Given the description of an element on the screen output the (x, y) to click on. 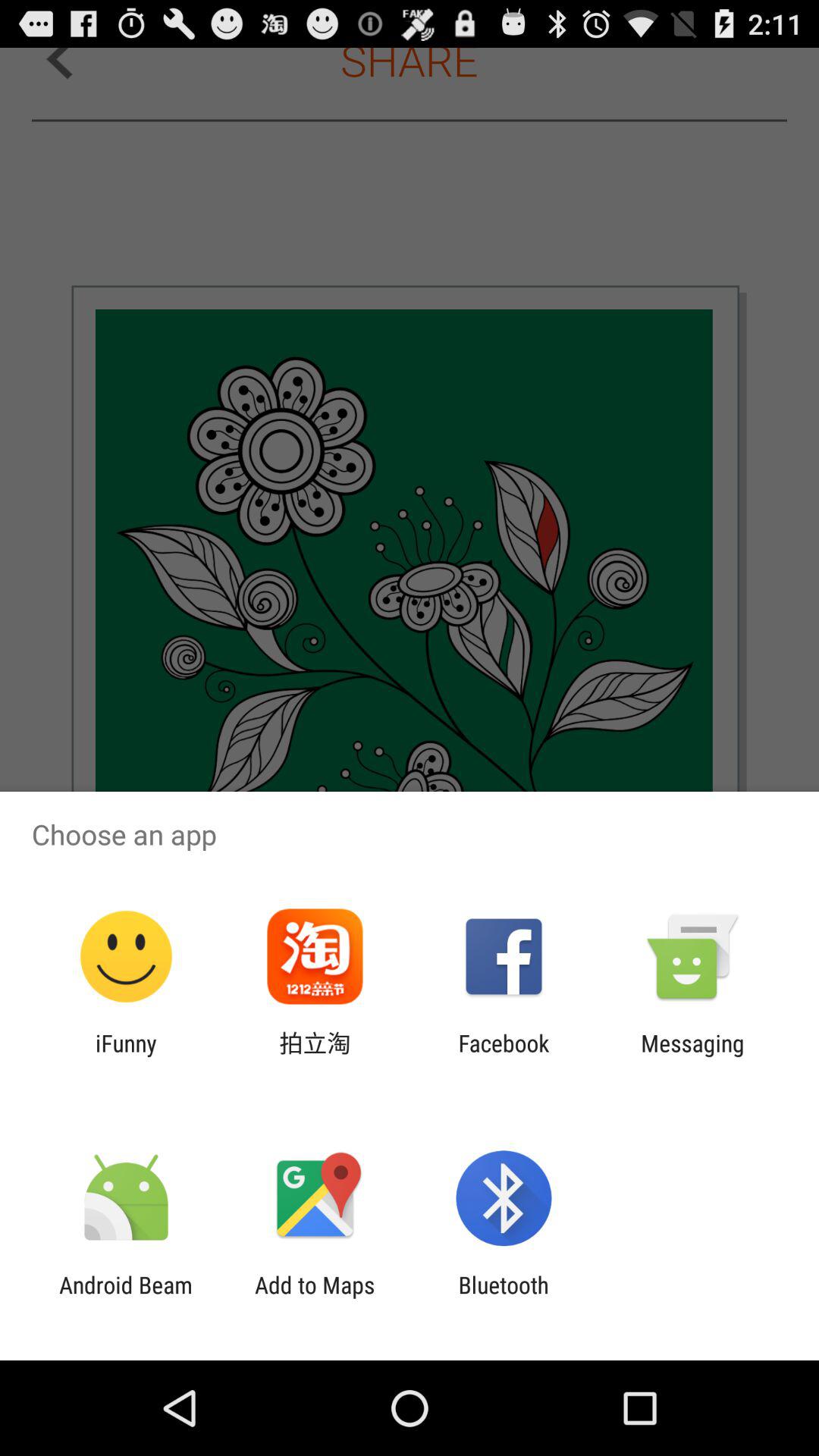
swipe until android beam (125, 1298)
